Given the description of an element on the screen output the (x, y) to click on. 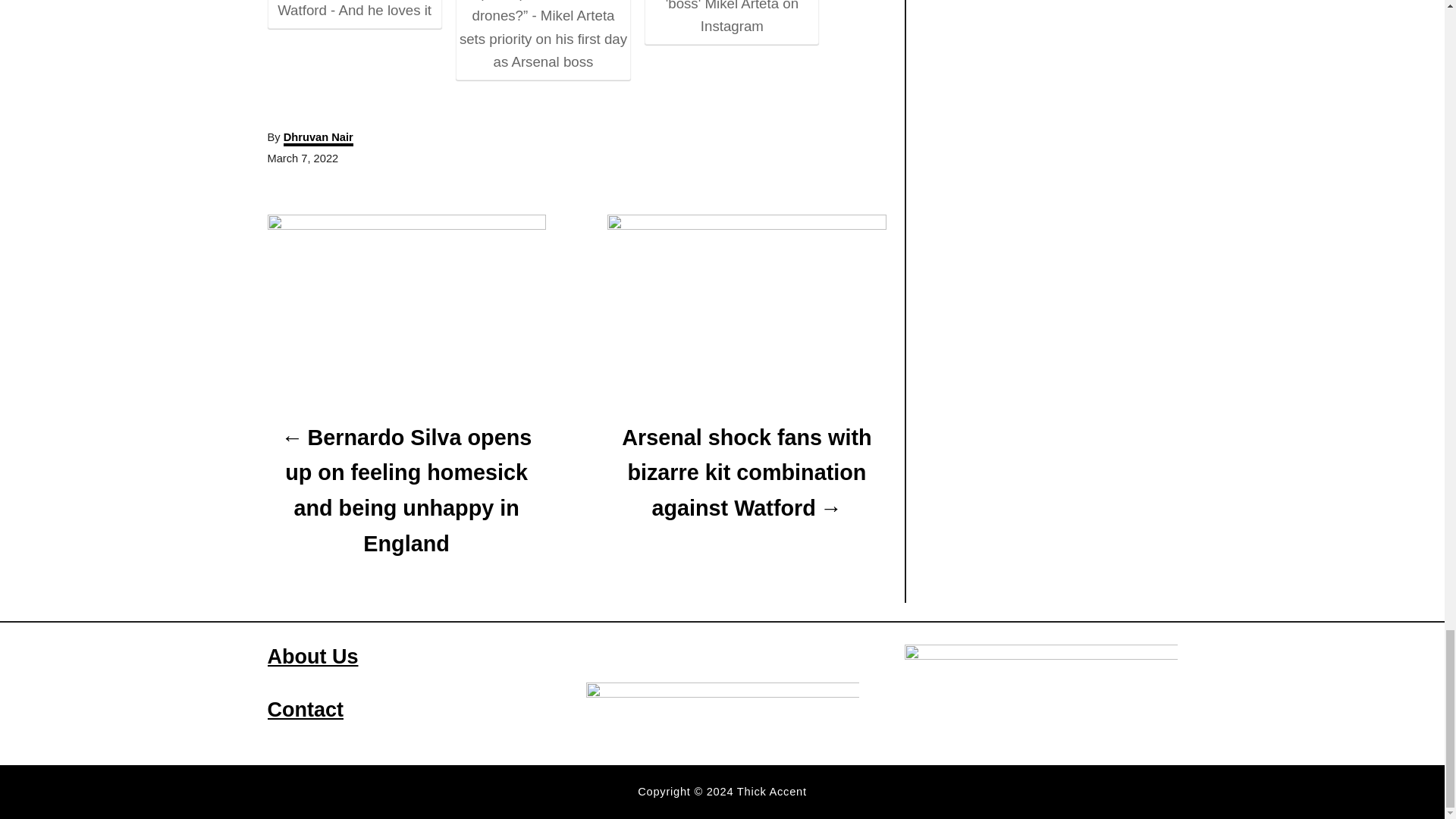
About Us (312, 656)
Dhruvan Nair (318, 137)
Contact (304, 709)
